Given the description of an element on the screen output the (x, y) to click on. 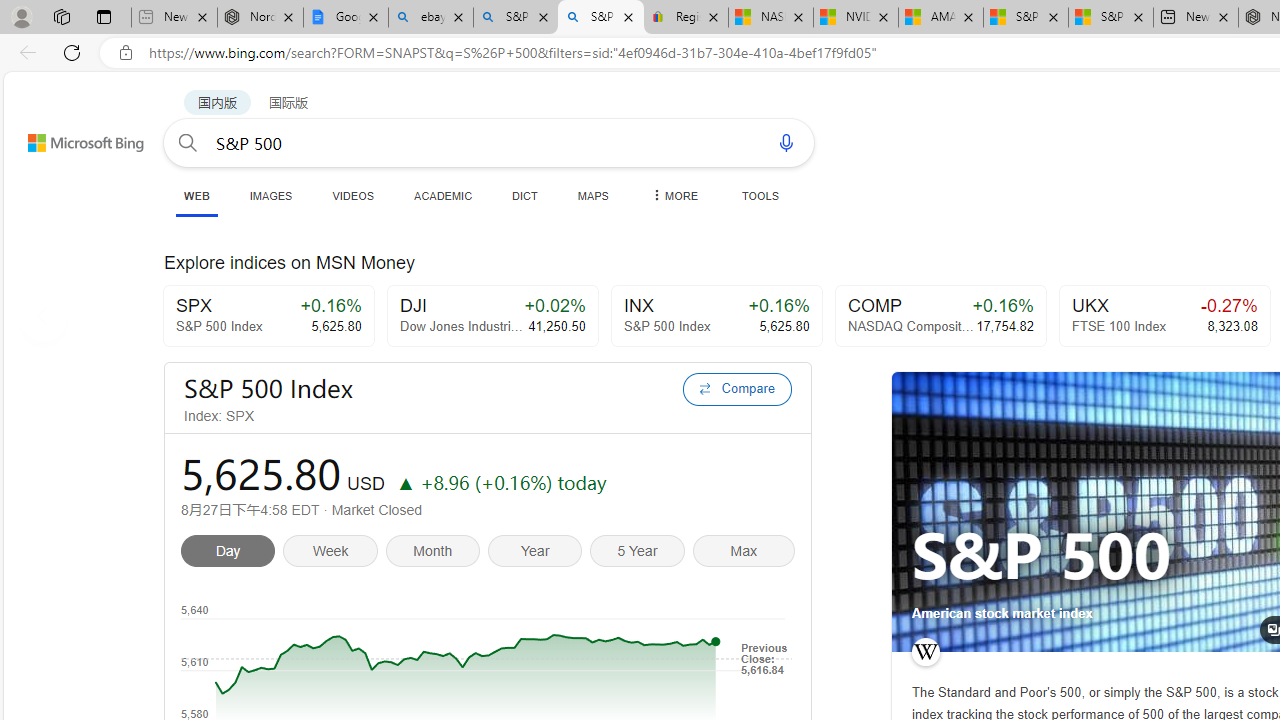
S&P 500 (1041, 556)
UKX -0.27% FTSE 100 Index 8,323.08 (1164, 315)
VIDEOS (352, 195)
Search using voice (785, 142)
New tab - Sleeping (174, 17)
TOOLS (760, 195)
INX +0.16% S&P 500 Index 5,625.80 (716, 315)
S&P 500, Nasdaq end lower, weighed by Nvidia dip | Watch (1110, 17)
WEB (196, 196)
SPX+0.16%S&P 500 Index5,625.80 (268, 315)
